Given the description of an element on the screen output the (x, y) to click on. 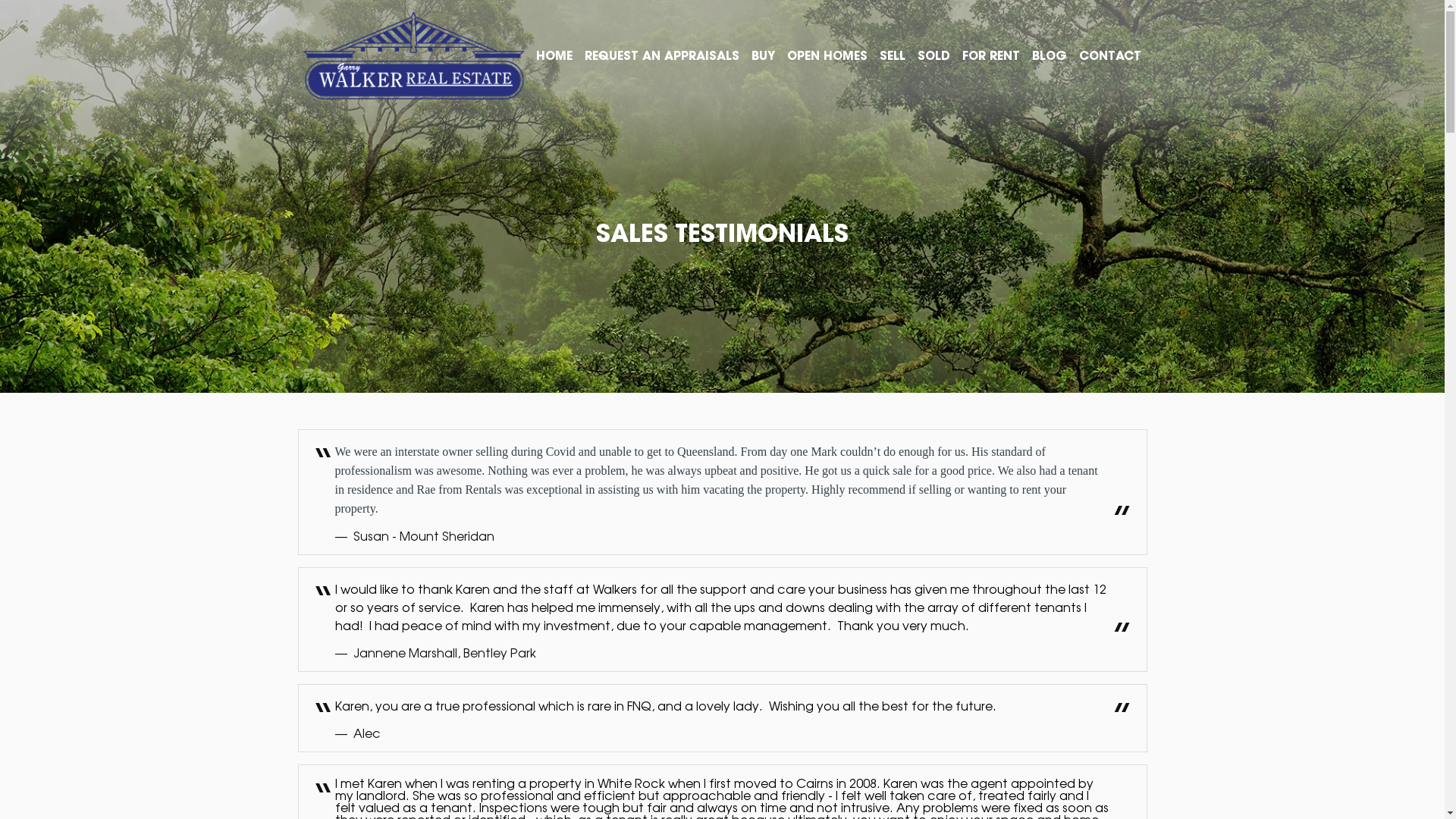
SELL Element type: text (892, 55)
FOR RENT Element type: text (990, 55)
HOME Element type: text (553, 55)
CONTACT Element type: text (1109, 55)
BUY Element type: text (762, 55)
REQUEST AN APPRAISALS Element type: text (660, 55)
OPEN HOMES Element type: text (827, 55)
SOLD Element type: text (933, 55)
BLOG Element type: text (1048, 55)
